Given the description of an element on the screen output the (x, y) to click on. 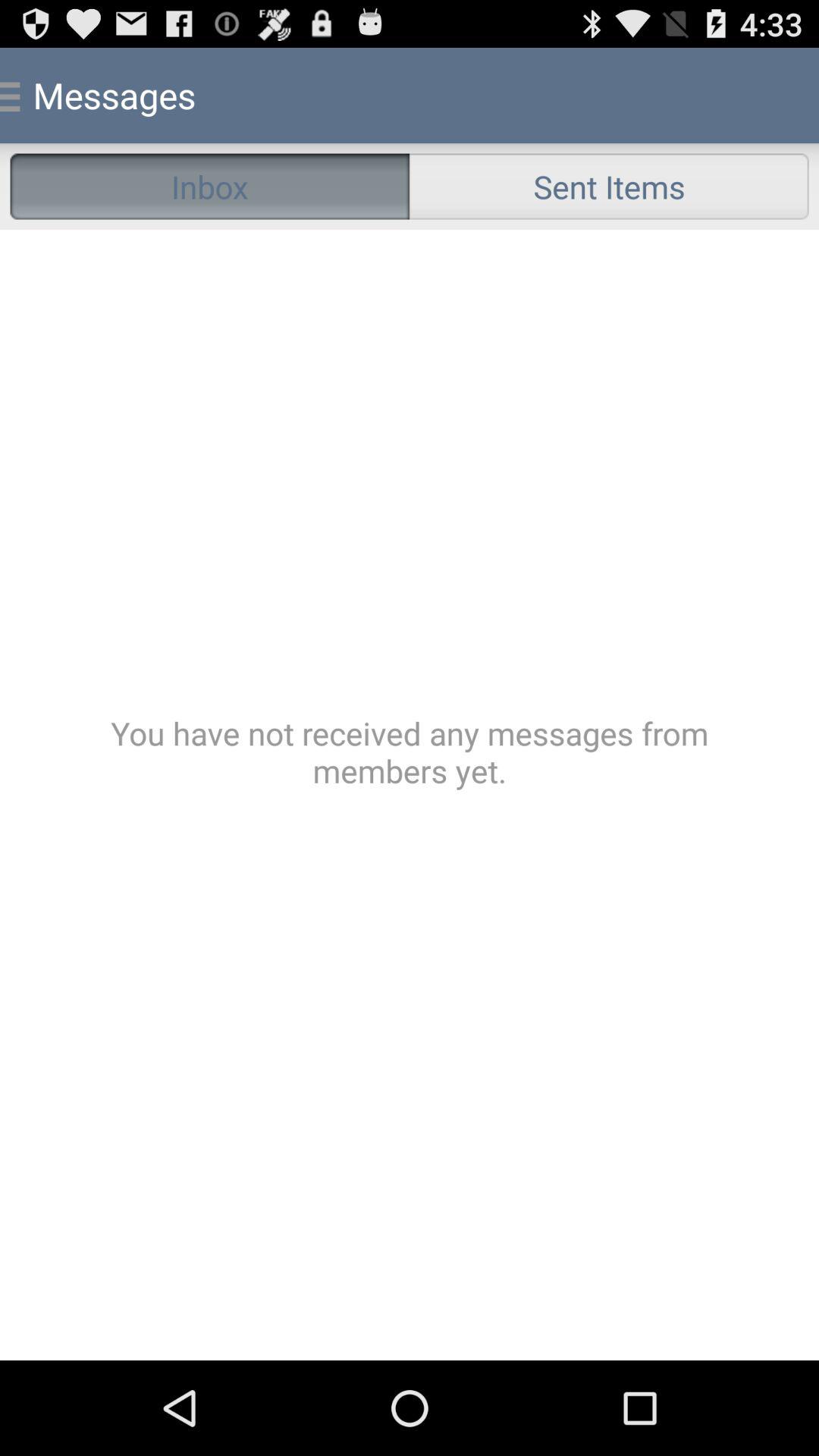
scroll until the sent items radio button (608, 186)
